Given the description of an element on the screen output the (x, y) to click on. 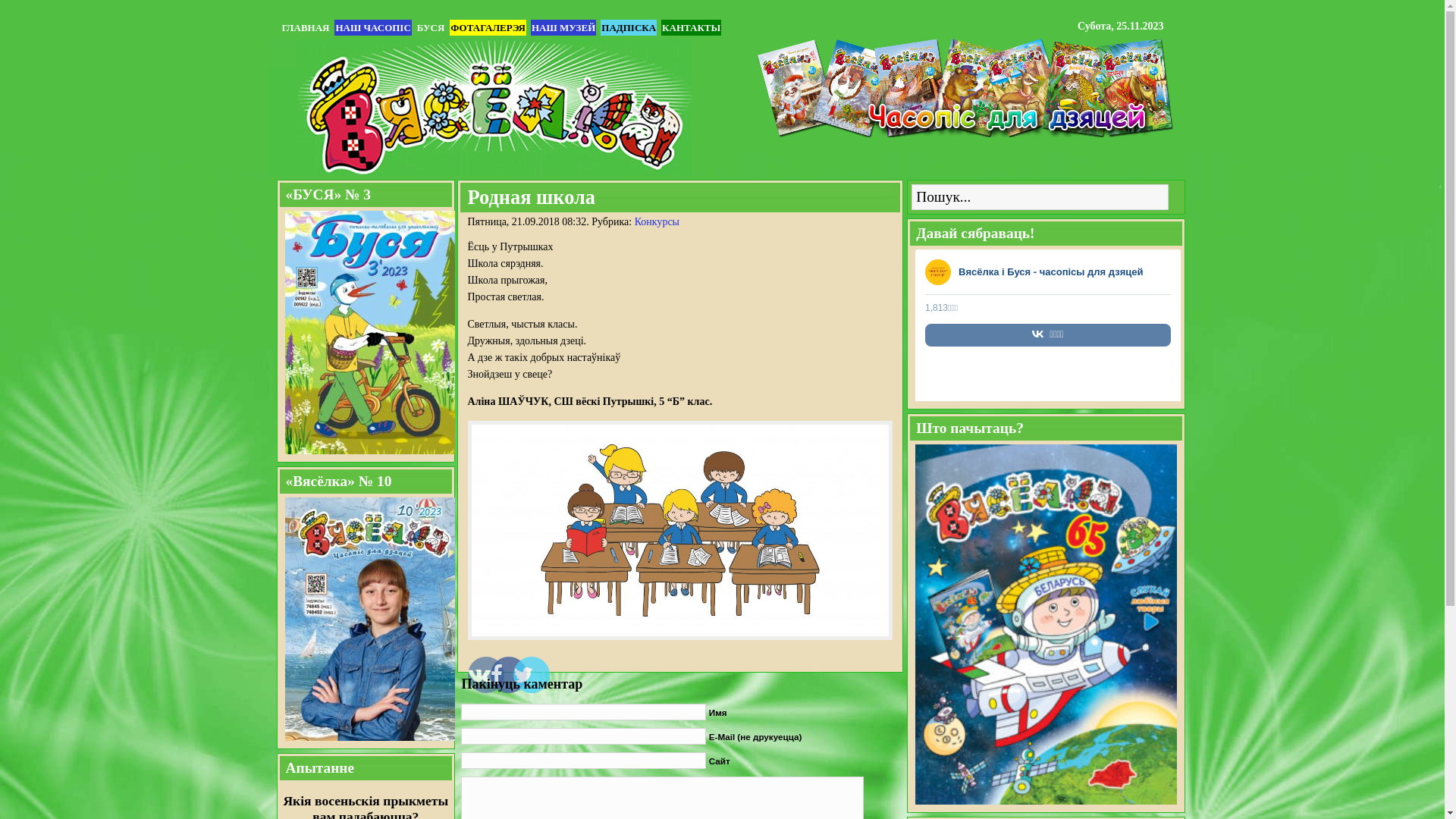
kids-at-school-vektorel-cizim-logo Element type: hover (679, 530)
Facebook Element type: hover (493, 654)
Vkontakte Element type: hover (470, 654)
Twitter Element type: hover (516, 654)
